Given the description of an element on the screen output the (x, y) to click on. 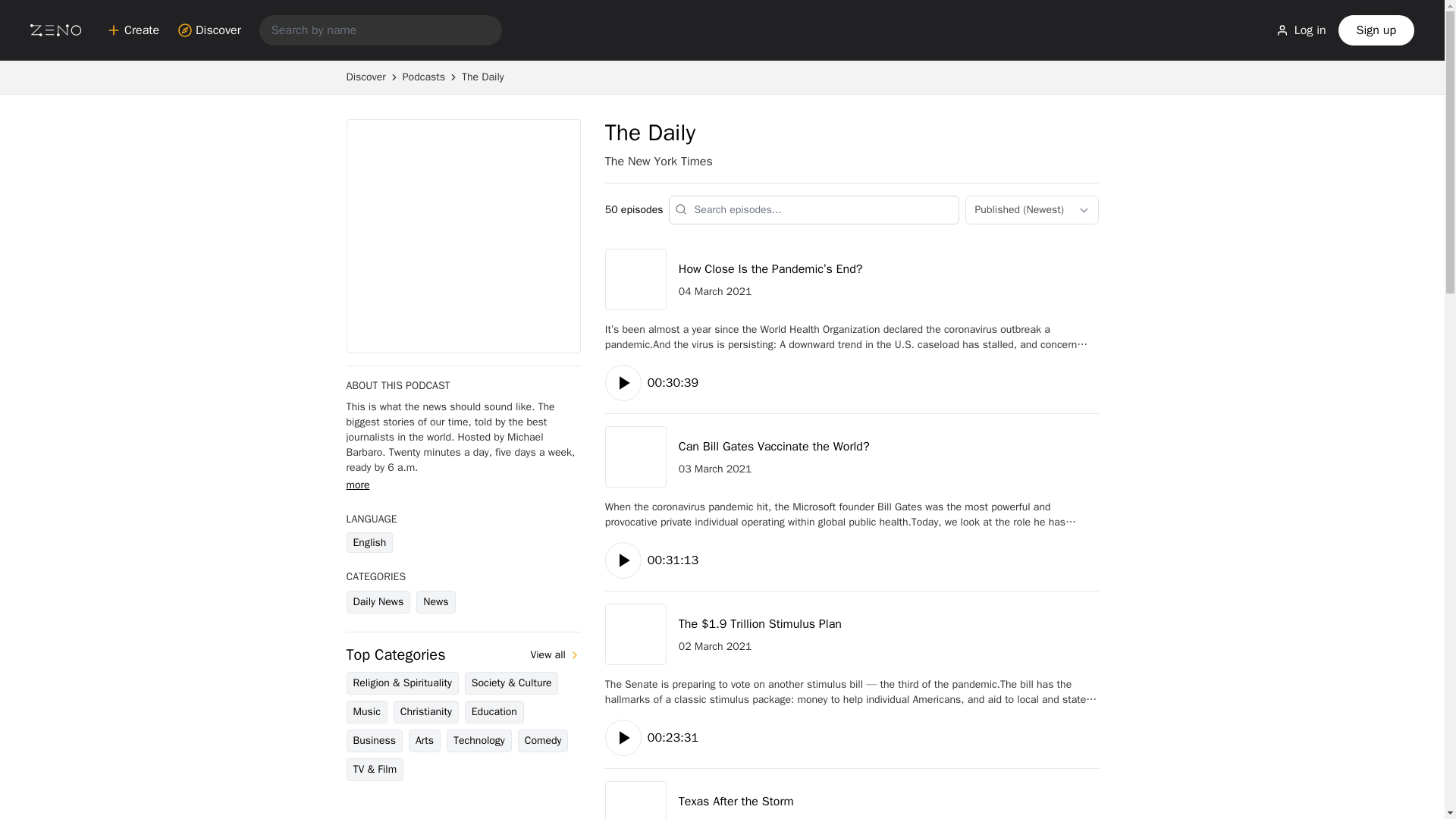
Sign up (1375, 30)
Business (373, 740)
Technology (479, 740)
Education (494, 712)
Podcasts (424, 77)
Log in (1301, 30)
Daily News (378, 601)
View all (554, 655)
Comedy (543, 740)
English (369, 542)
